Given the description of an element on the screen output the (x, y) to click on. 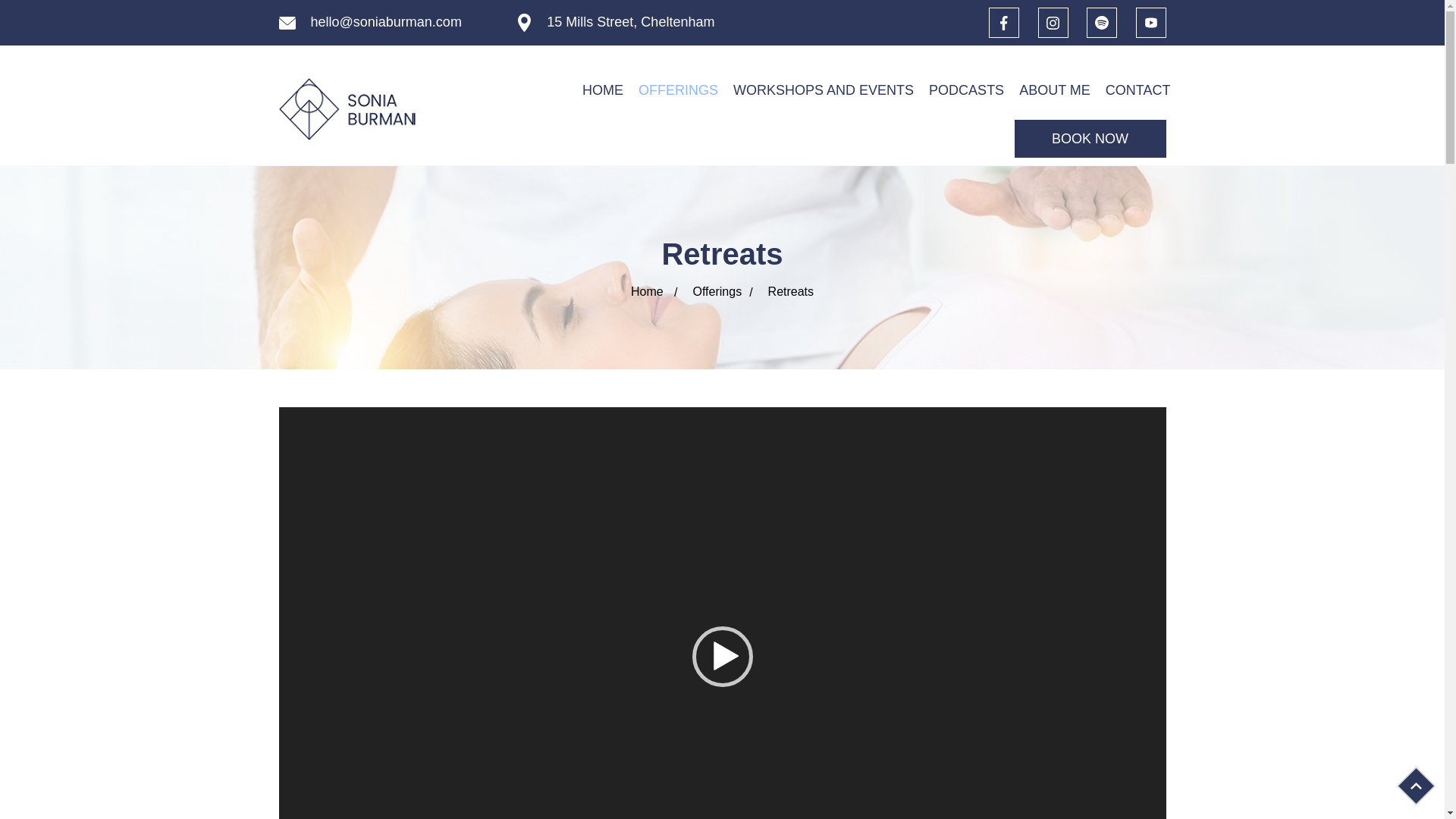
Home (646, 291)
15 Mills Street, Cheltenham (630, 22)
Spotify (1101, 22)
CONTACT (1137, 89)
Offerings (717, 291)
PODCASTS (966, 89)
BOOK NOW (1090, 138)
Home (646, 291)
Instagram (1053, 22)
WORKSHOPS AND EVENTS (823, 89)
